Given the description of an element on the screen output the (x, y) to click on. 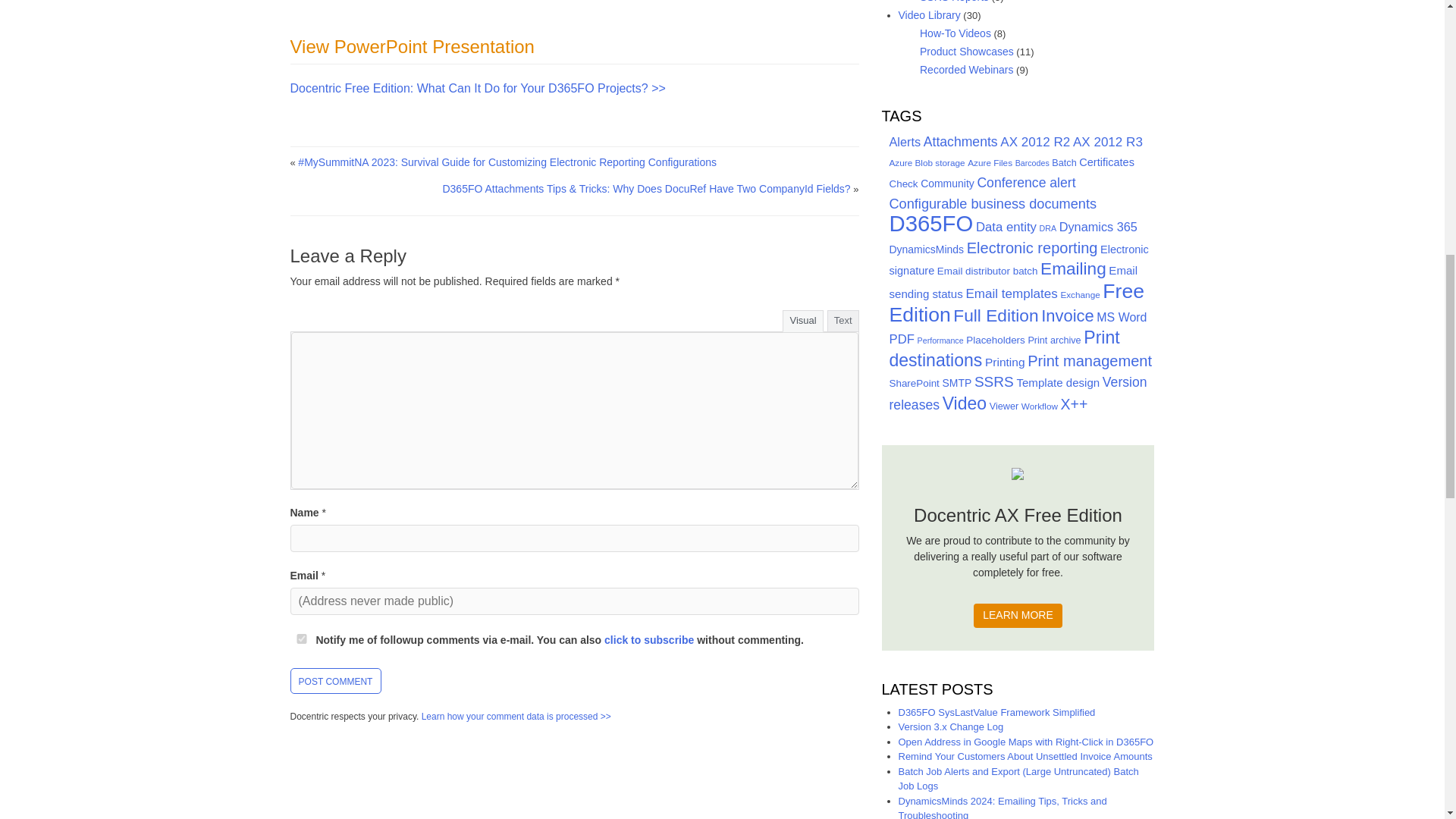
yes (301, 638)
Post Comment (334, 680)
